Given the description of an element on the screen output the (x, y) to click on. 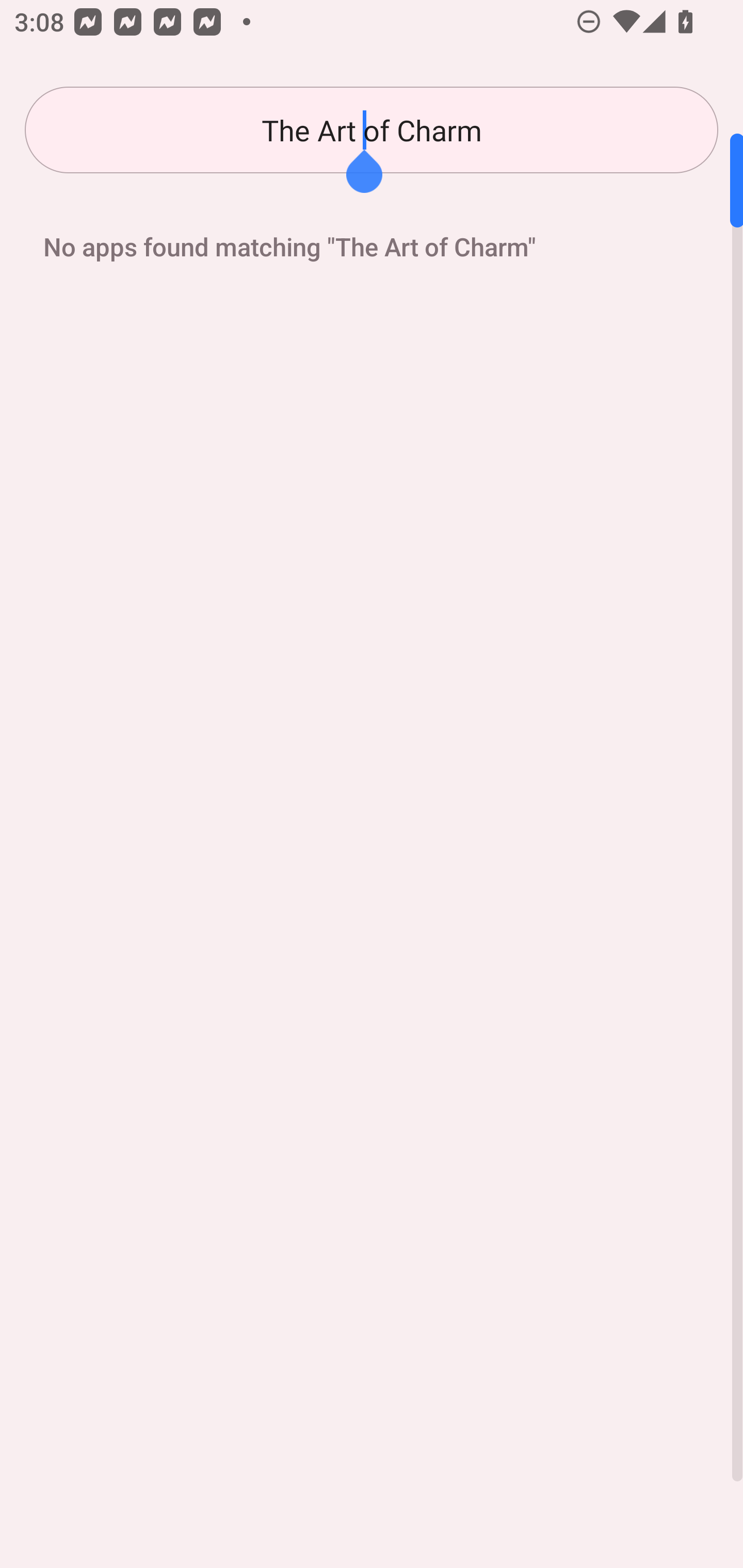
The Art of Charm (371, 130)
